Given the description of an element on the screen output the (x, y) to click on. 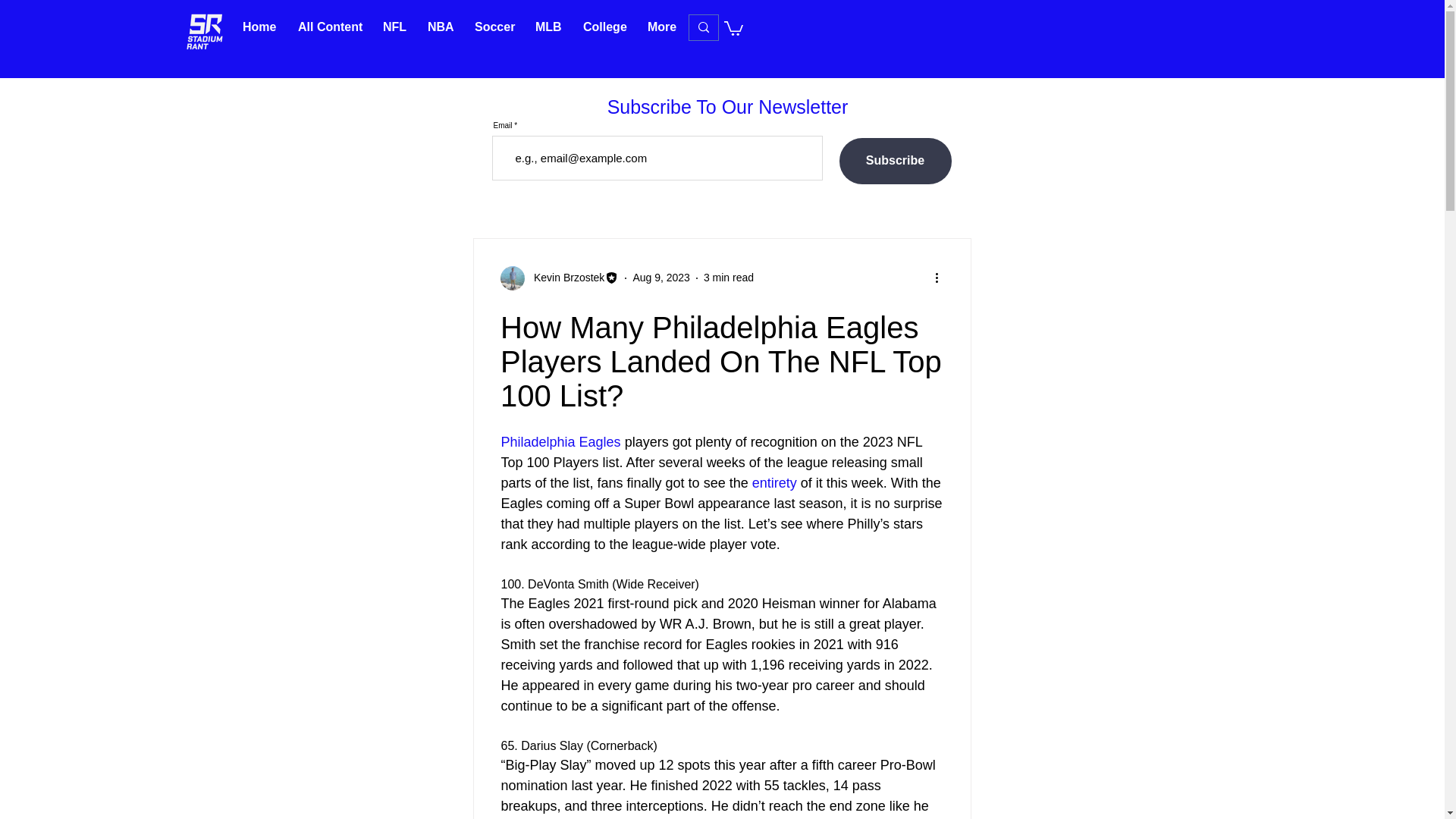
3 min read (728, 277)
Subscribe (894, 161)
Kevin Brzostek (559, 278)
NBA (439, 26)
Kevin Brzostek (564, 277)
All Content (328, 26)
MLB (548, 26)
Home (258, 26)
Aug 9, 2023 (660, 277)
Philadelphia Eagles (560, 441)
